Given the description of an element on the screen output the (x, y) to click on. 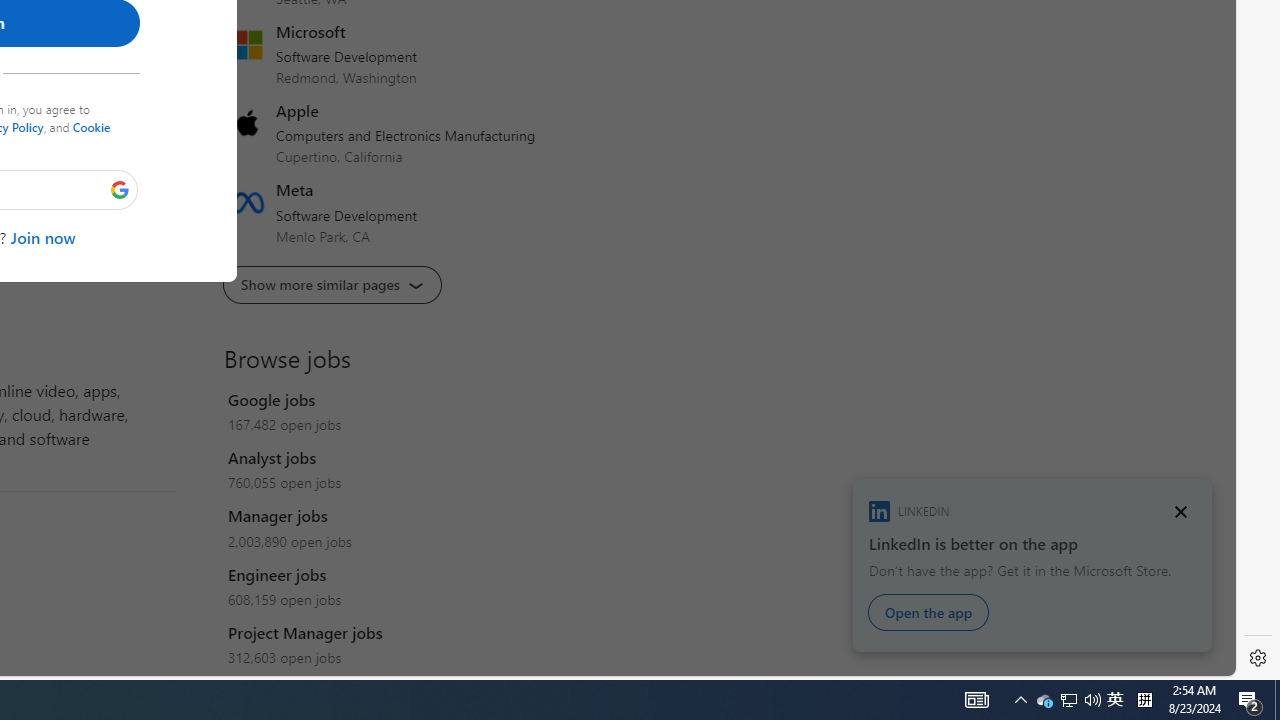
Class: LgbsSe-Bz112c (120, 189)
Join now (42, 236)
